Given the description of an element on the screen output the (x, y) to click on. 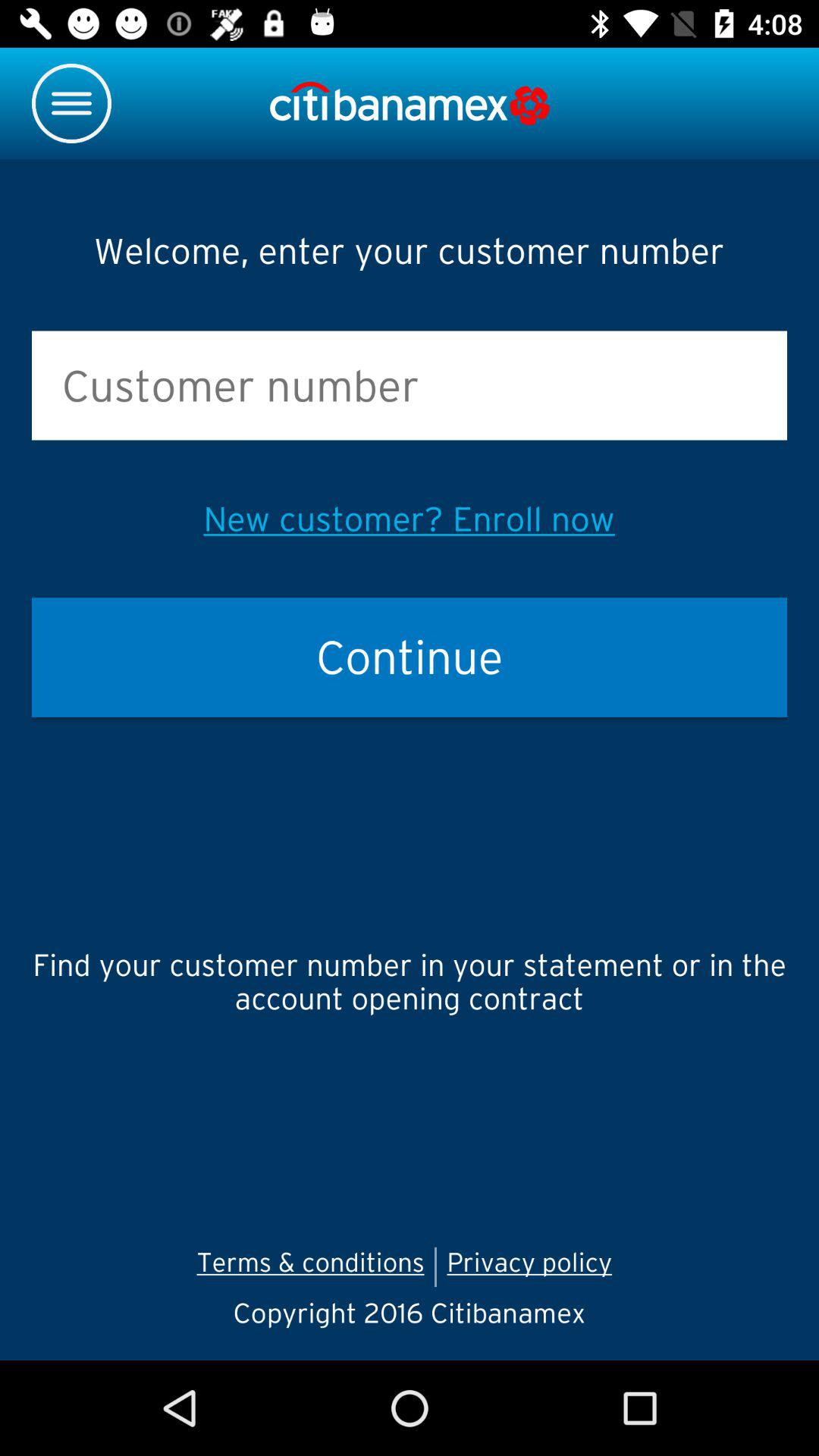
open the icon above the continue item (408, 518)
